Given the description of an element on the screen output the (x, y) to click on. 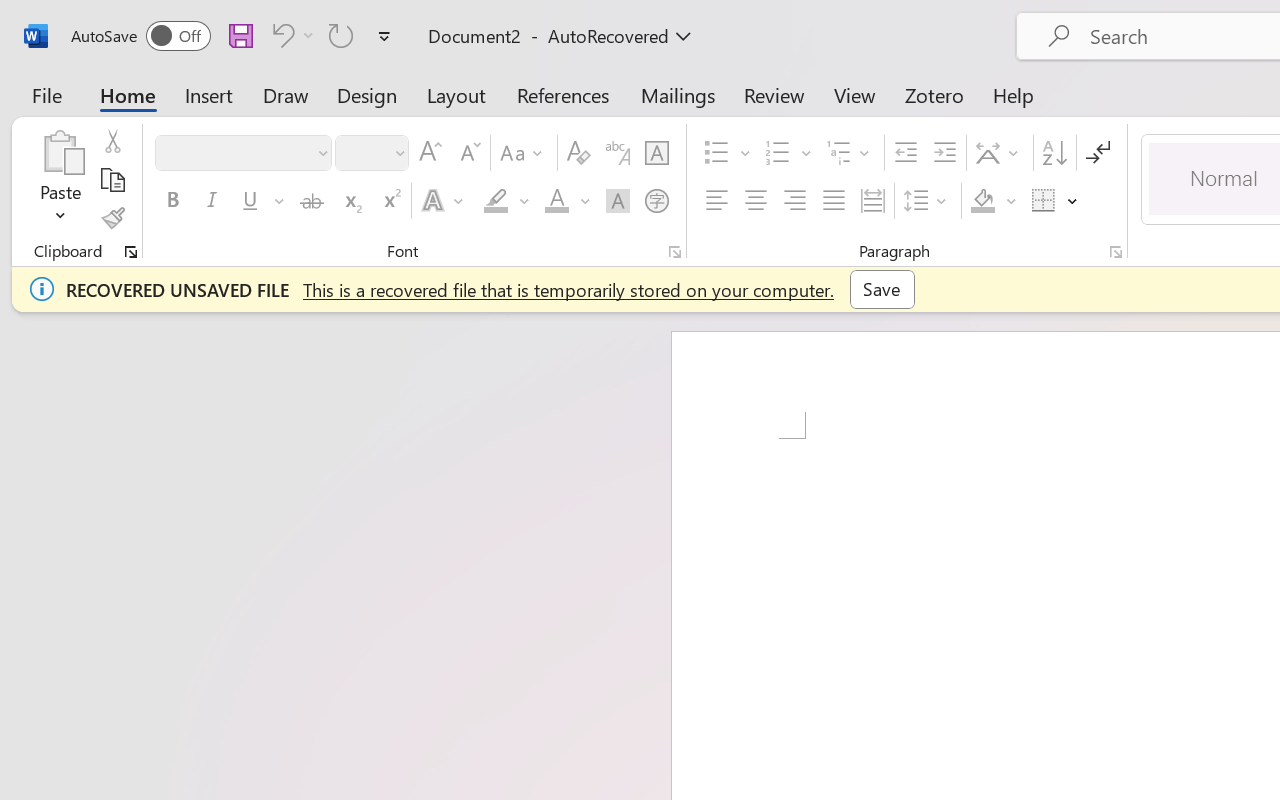
Grow Font (430, 153)
